Given the description of an element on the screen output the (x, y) to click on. 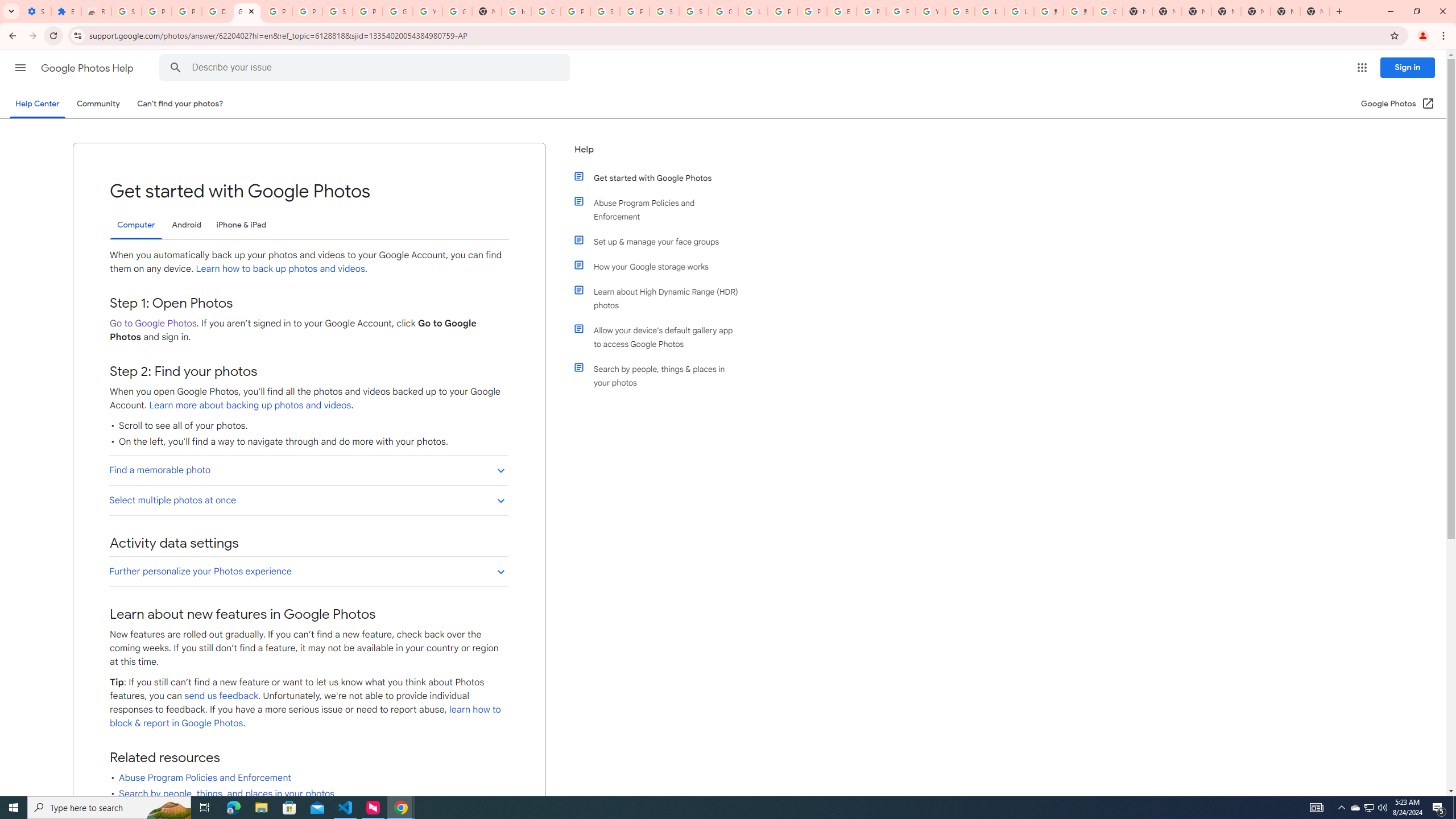
Google Account (397, 11)
Select multiple photos at once (308, 499)
New Tab (1314, 11)
Find a memorable photo (308, 469)
Sign in - Google Accounts (126, 11)
How your Google storage works (661, 266)
Privacy Help Center - Policies Help (811, 11)
